Given the description of an element on the screen output the (x, y) to click on. 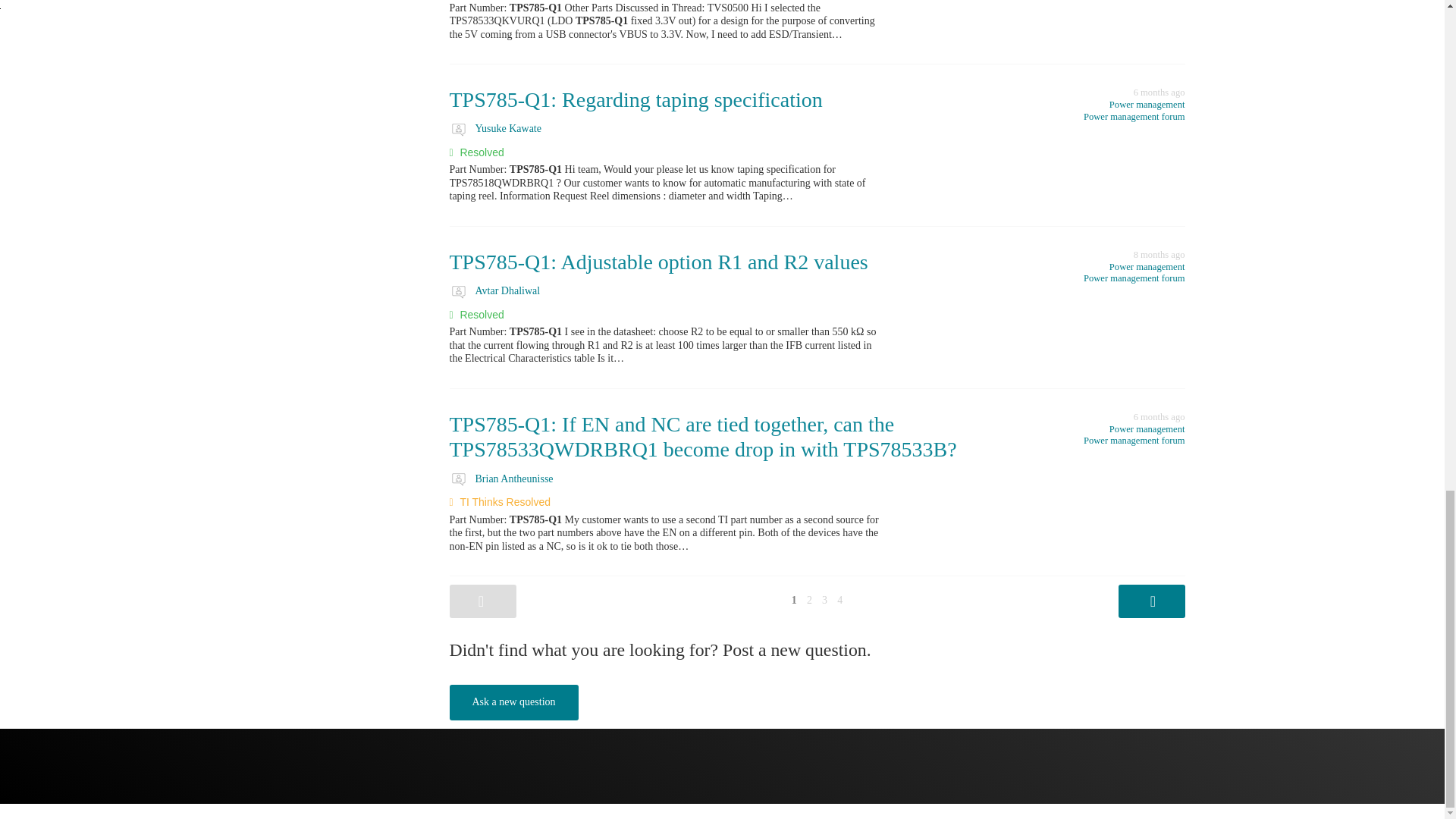
TPS785-Q1: Adjustable option R1 and R2 values (657, 261)
TPS785-Q1: Regarding taping specification (635, 99)
